Given the description of an element on the screen output the (x, y) to click on. 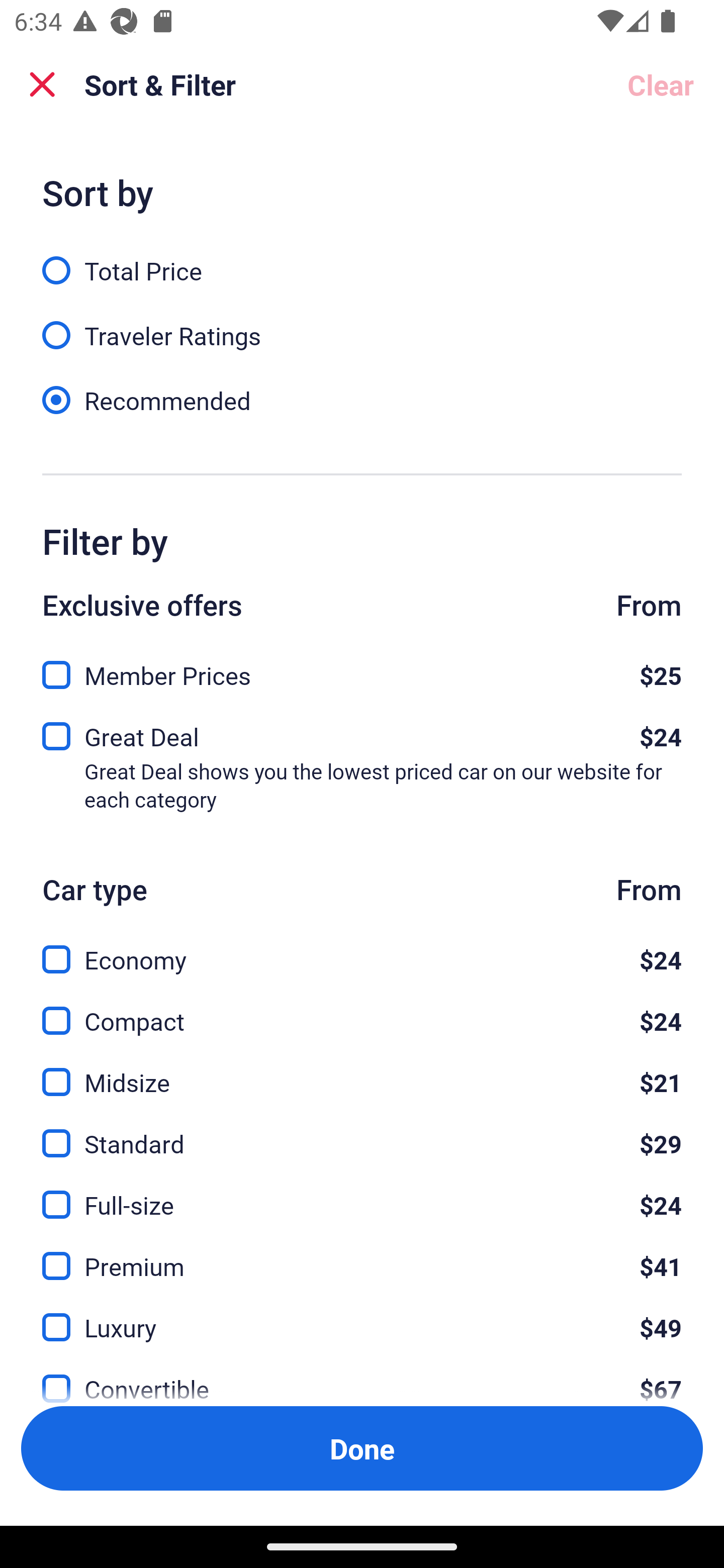
Close Sort and Filter (42, 84)
Clear (660, 84)
Total Price (361, 259)
Traveler Ratings (361, 324)
Member Prices, $25 Member Prices $25 (361, 669)
Economy, $24 Economy $24 (361, 947)
Compact, $24 Compact $24 (361, 1008)
Midsize, $21 Midsize $21 (361, 1070)
Standard, $29 Standard $29 (361, 1132)
Full-size, $24 Full-size $24 (361, 1193)
Premium, $41 Premium $41 (361, 1254)
Luxury, $49 Luxury $49 (361, 1315)
Apply and close Sort and Filter Done (361, 1448)
